Given the description of an element on the screen output the (x, y) to click on. 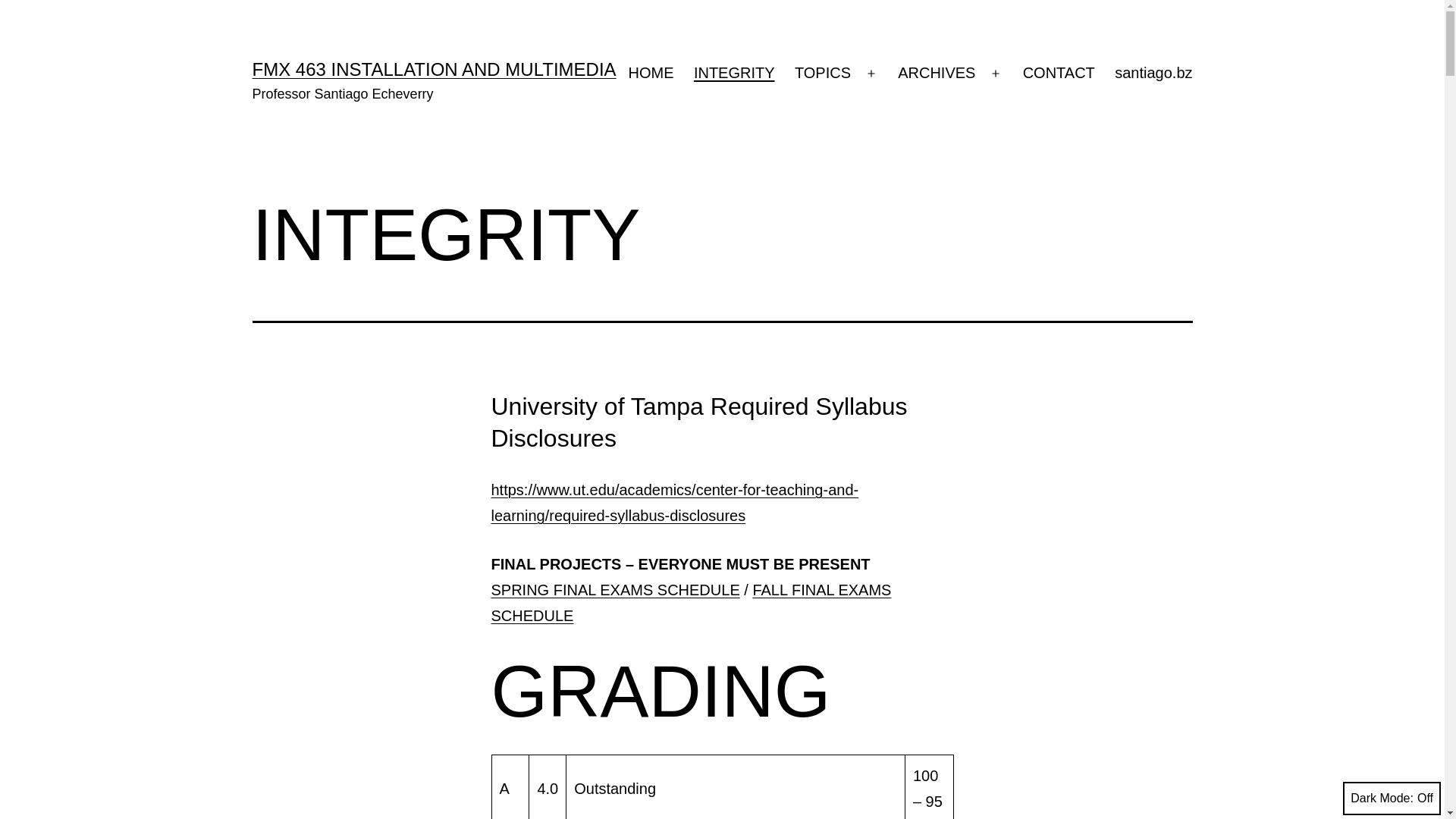
Open menu Element type: text (995, 73)
SPRING FINAL EXAMS SCHEDULE Element type: text (615, 589)
HOME Element type: text (650, 73)
FMX 463 INSTALLATION AND MULTIMEDIA Element type: text (433, 69)
FALL FINAL EXAMS SCHEDULE Element type: text (691, 602)
santiago.bz Element type: text (1153, 73)
ARCHIVES Element type: text (936, 73)
Dark Mode: Element type: text (1391, 798)
Open menu Element type: text (871, 73)
INTEGRITY Element type: text (734, 73)
TOPICS Element type: text (822, 73)
CONTACT Element type: text (1058, 73)
